Given the description of an element on the screen output the (x, y) to click on. 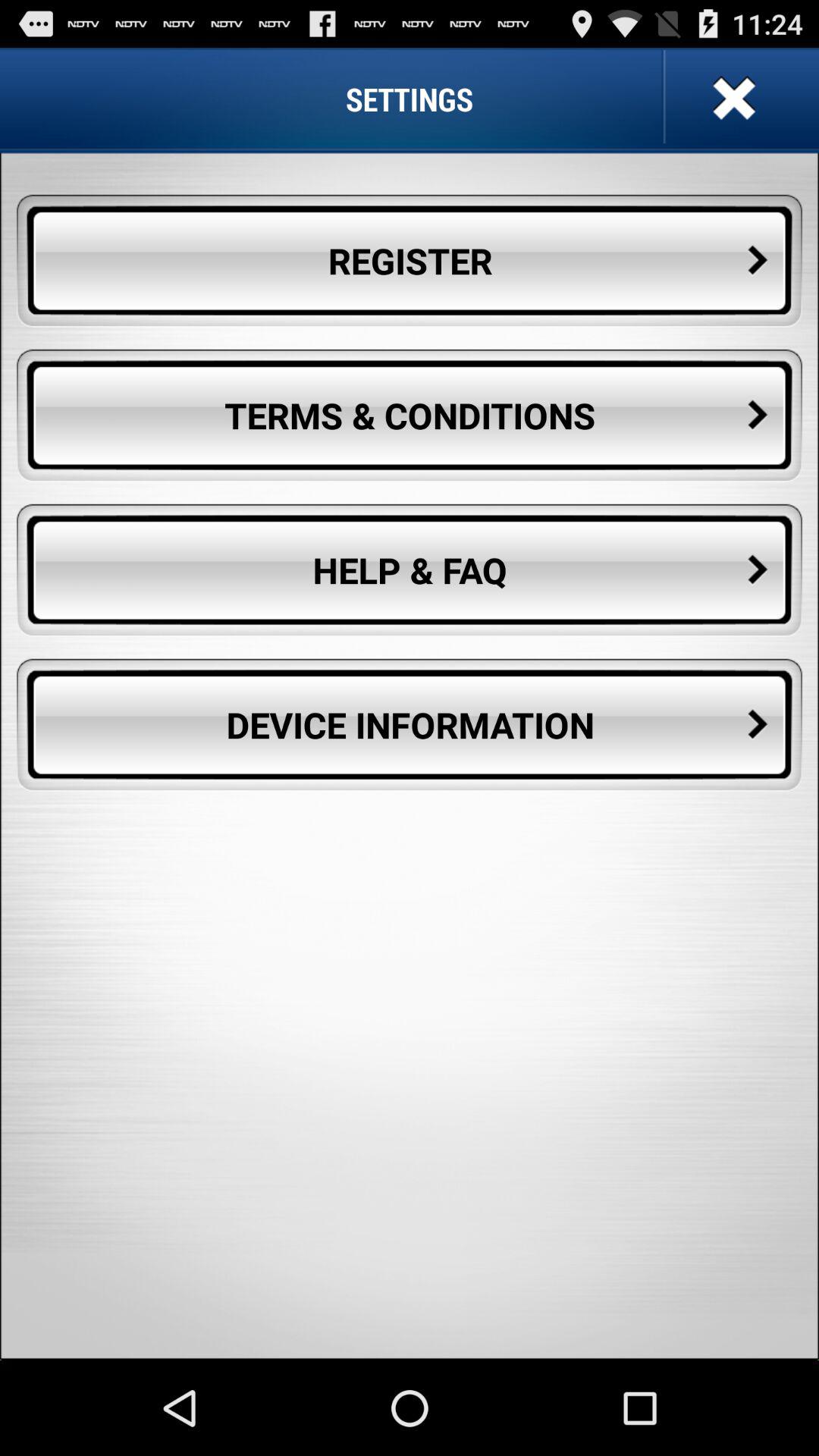
choose the icon above the terms & conditions (409, 260)
